Given the description of an element on the screen output the (x, y) to click on. 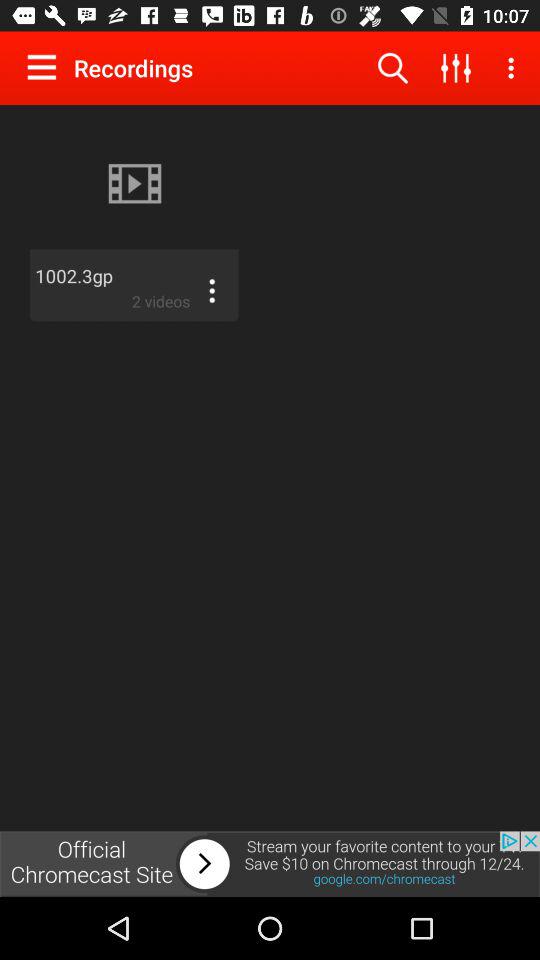
gallery options (46, 67)
